Given the description of an element on the screen output the (x, y) to click on. 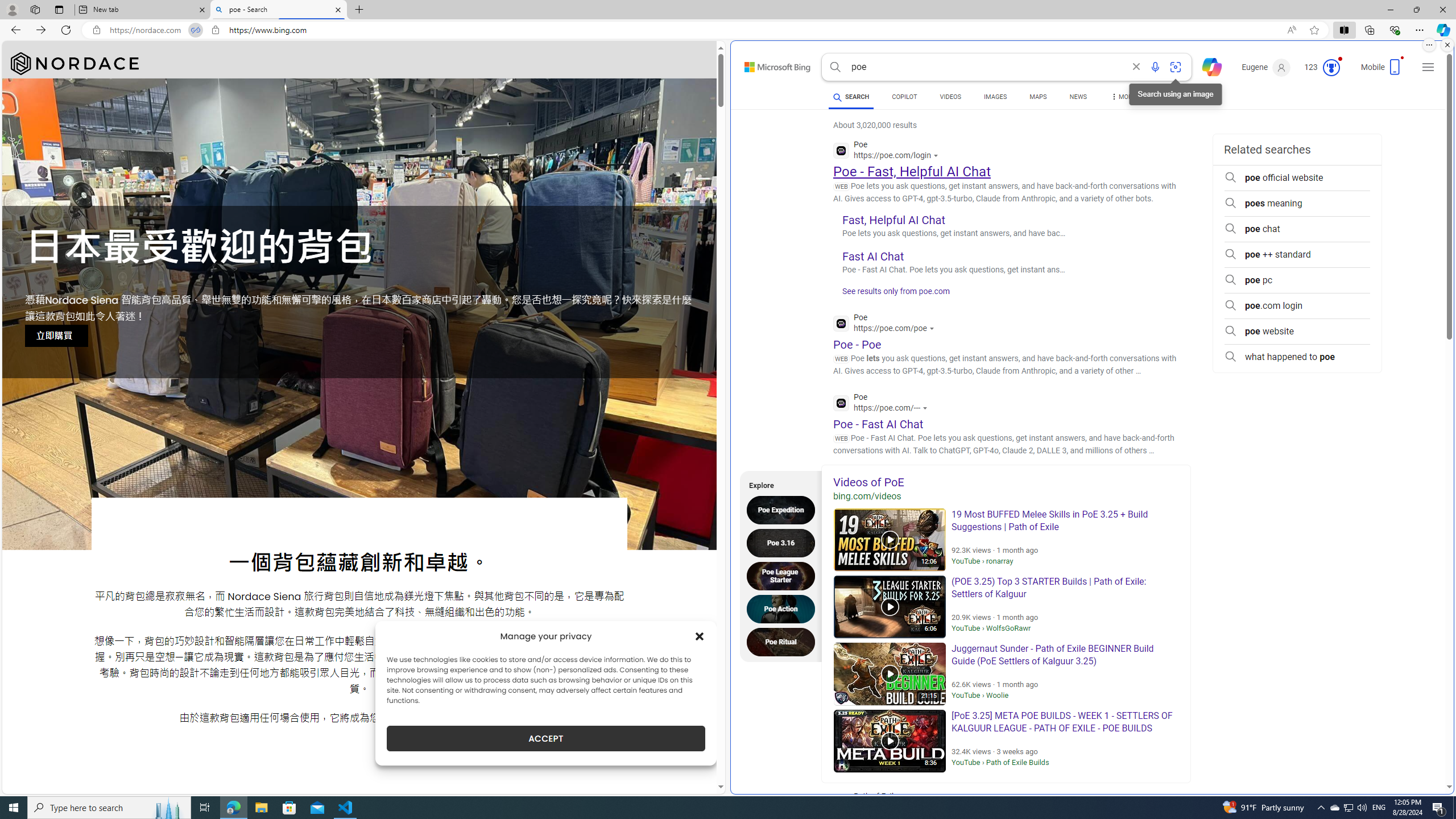
See results only from poe.com (891, 294)
Back to Bing search (770, 64)
IMAGES (995, 98)
Address and search bar (693, 29)
Class: medal-circled (1331, 67)
poe.com login (1297, 305)
Microsoft Rewards 123 (1323, 67)
COPILOT (903, 96)
ACCEPT (545, 738)
Actions for this site (926, 408)
